Given the description of an element on the screen output the (x, y) to click on. 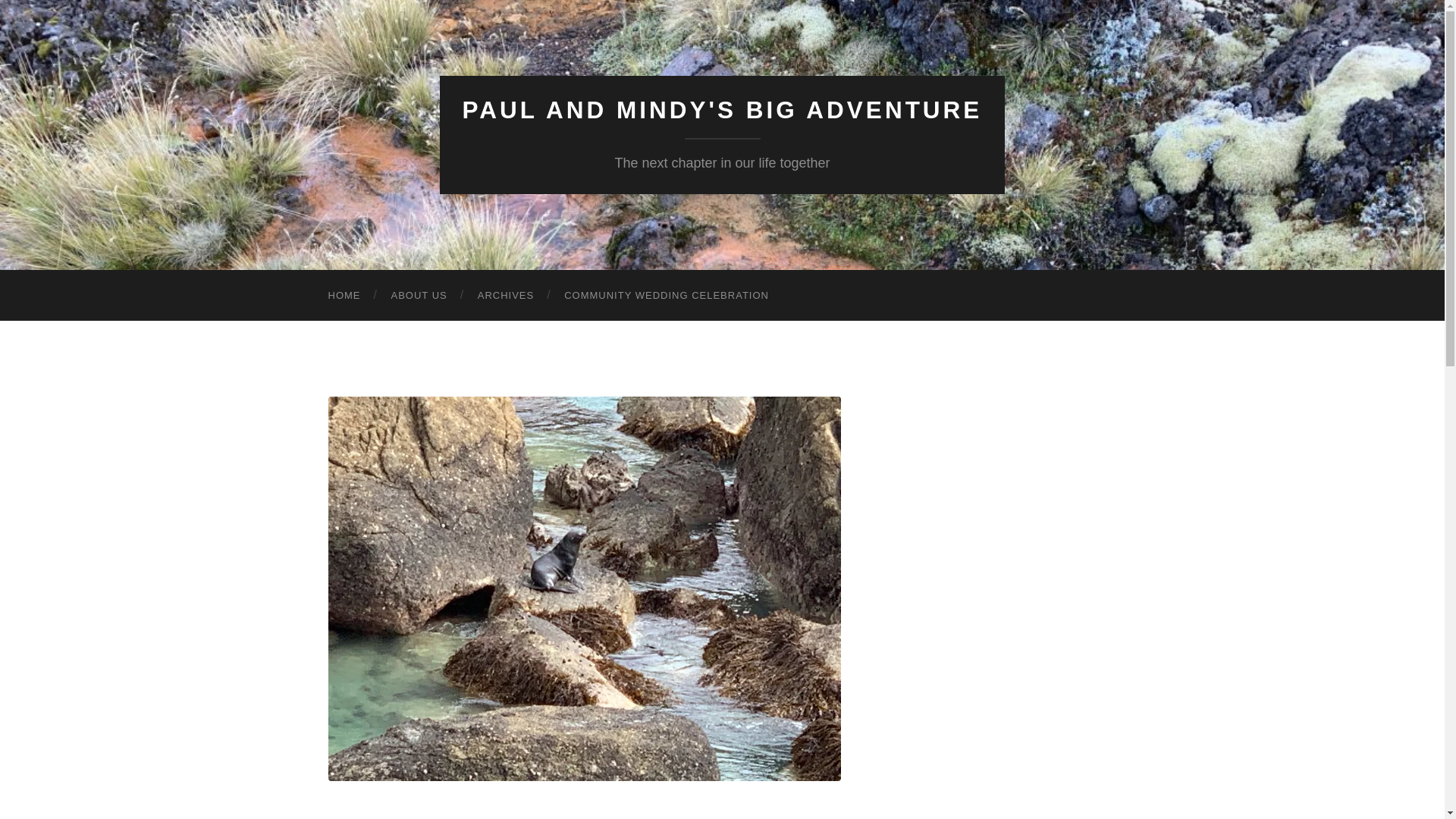
ARCHIVES (505, 295)
COMMUNITY WEDDING CELEBRATION (666, 295)
PAUL AND MINDY'S BIG ADVENTURE (722, 109)
ABOUT US (419, 295)
HOME (344, 295)
